Given the description of an element on the screen output the (x, y) to click on. 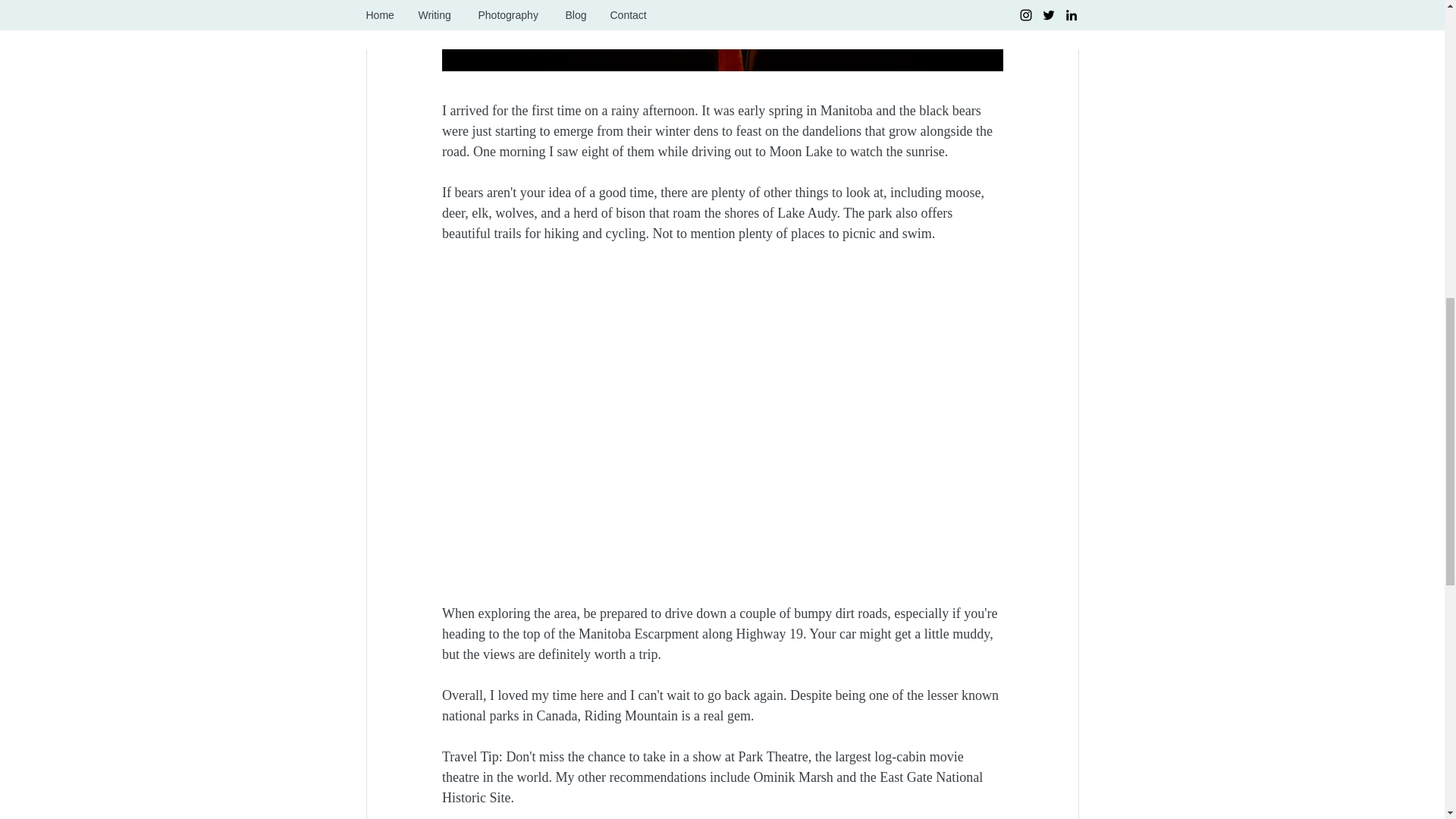
ricos-video (722, 323)
